Given the description of an element on the screen output the (x, y) to click on. 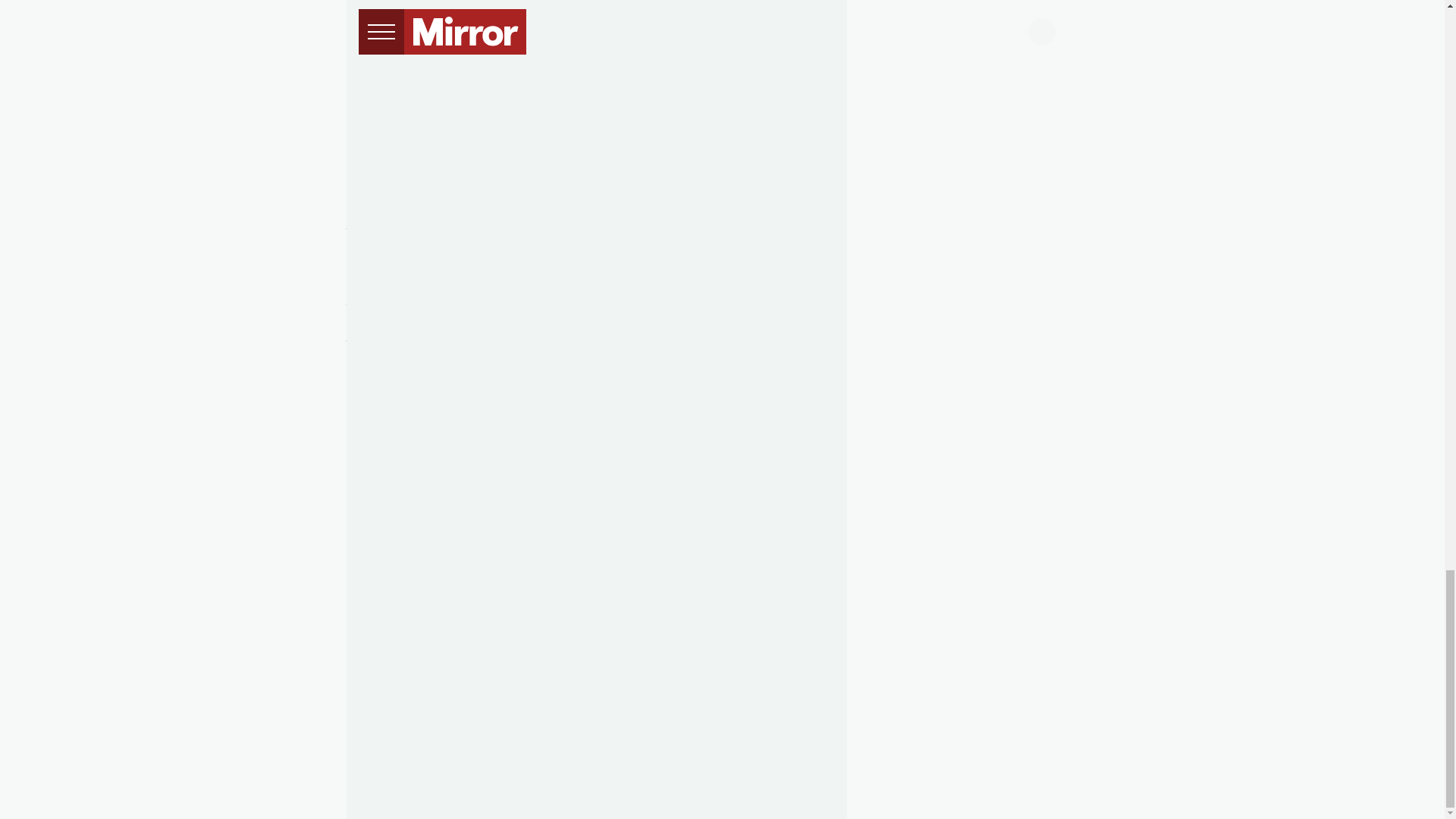
NHS (359, 93)
